Given the description of an element on the screen output the (x, y) to click on. 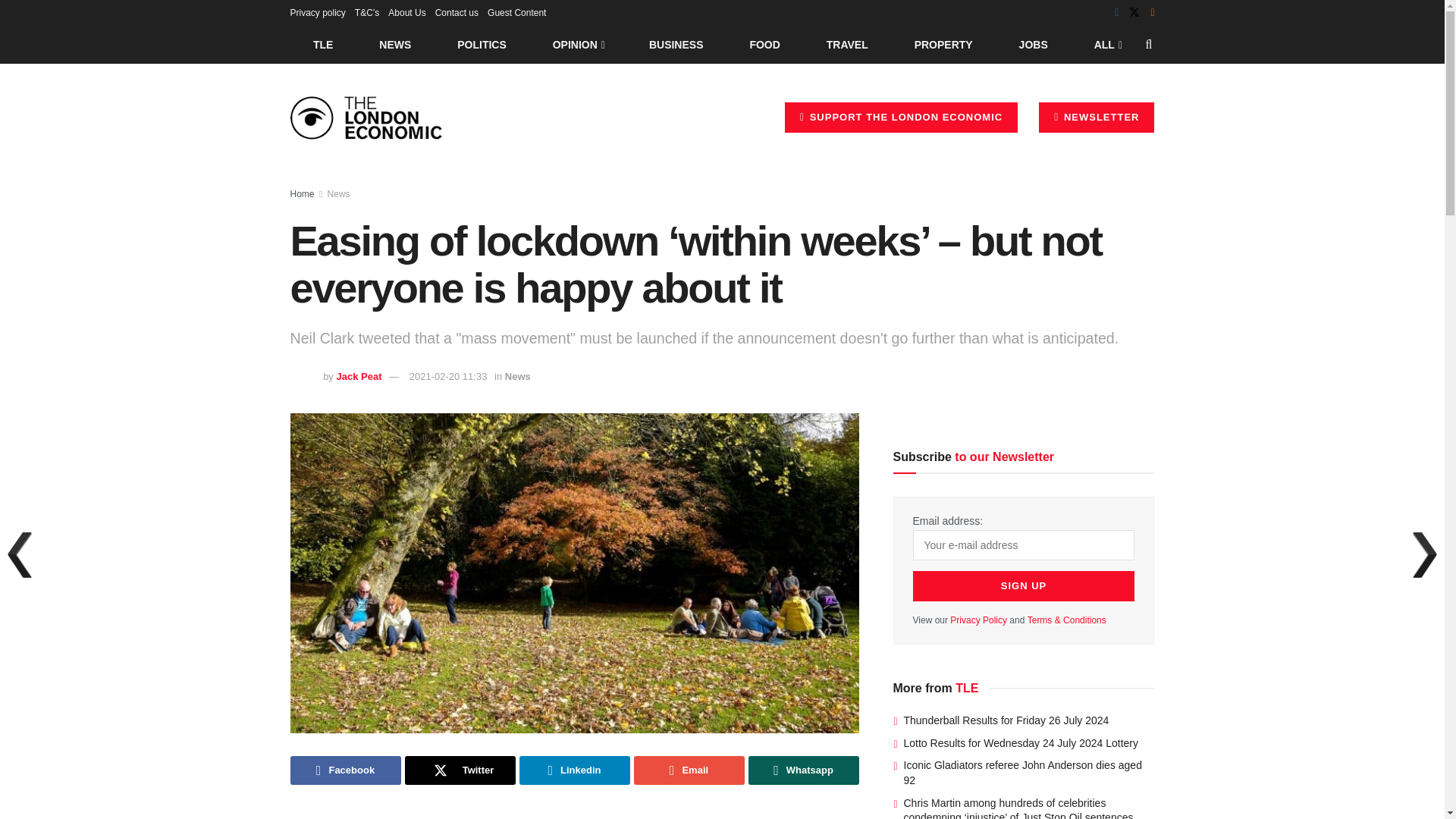
OPINION (577, 44)
About Us (406, 12)
JOBS (1032, 44)
TLE (322, 44)
Sign up (1023, 585)
Contact us (457, 12)
BUSINESS (676, 44)
Privacy policy (317, 12)
PROPERTY (943, 44)
SUPPORT THE LONDON ECONOMIC (900, 117)
FOOD (764, 44)
ALL (1106, 44)
NEWS (394, 44)
NEWSLETTER (1096, 117)
Guest Content (516, 12)
